Given the description of an element on the screen output the (x, y) to click on. 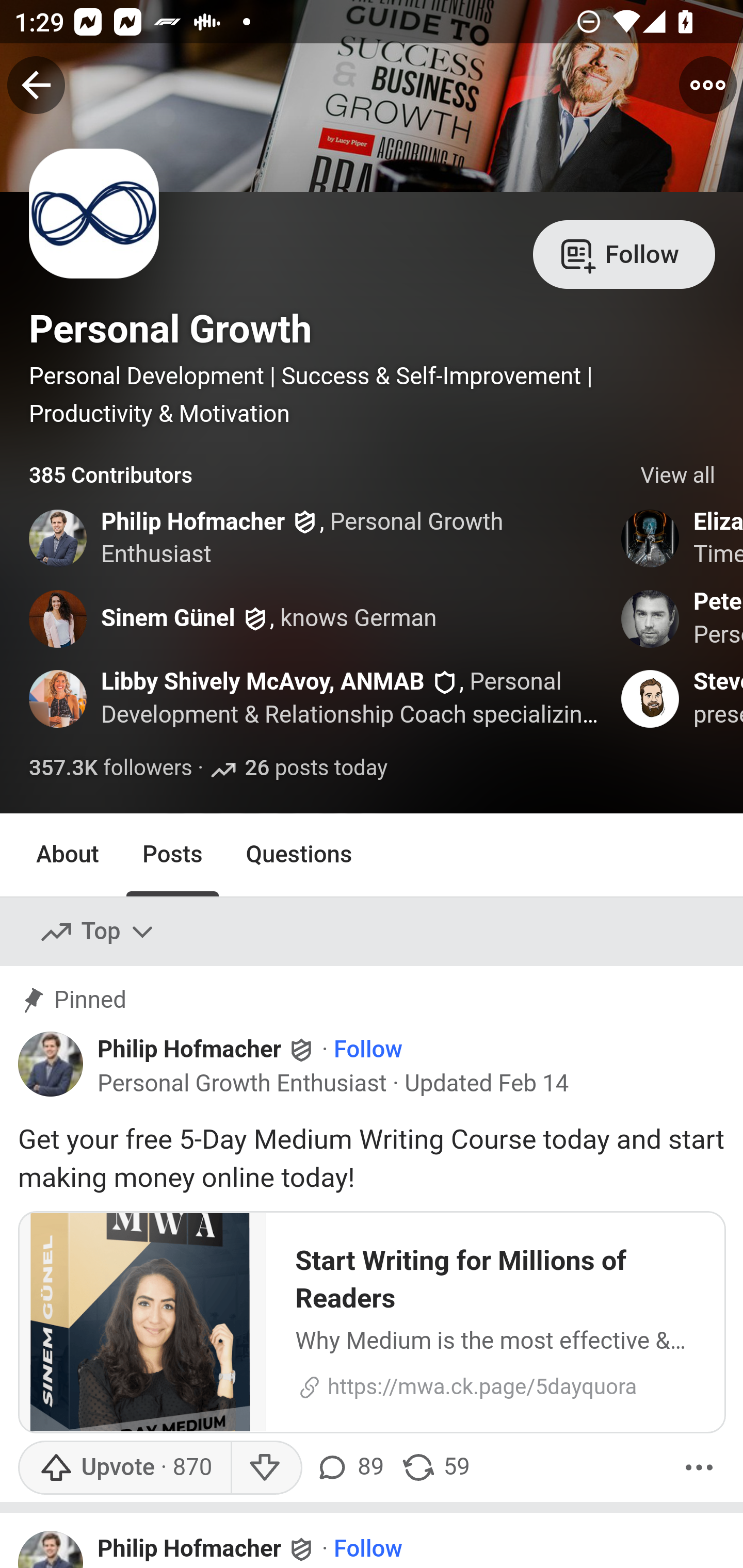
Follow (623, 252)
Personal Growth (170, 329)
View all (677, 475)
Philip Hofmacher (193, 521)
Profile photo for Philip Hofmacher (58, 538)
Profile photo for Elizabeth York (650, 538)
Profile photo for Sinem Günel (58, 617)
Profile photo for Peter Mayer (650, 617)
Sinem Günel (168, 618)
Libby Shively McAvoy, ANMAB (263, 682)
Profile photo for Libby Shively McAvoy, ANMAB (58, 699)
Profile photo for Steve Dani (650, 699)
357.3K followers (110, 768)
About (68, 854)
Posts (171, 854)
Questions (299, 854)
Top (97, 931)
Profile photo for Philip Hofmacher (50, 1063)
Philip Hofmacher Philip Hofmacher   (207, 1049)
Follow (368, 1051)
Updated Feb 14 Updated  Feb 14 (487, 1083)
Upvote (124, 1466)
Downvote (266, 1466)
89 comments (352, 1466)
59 shares (434, 1466)
More (699, 1466)
Profile photo for Philip Hofmacher (50, 1548)
Philip Hofmacher (189, 1548)
Follow (368, 1548)
